Given the description of an element on the screen output the (x, y) to click on. 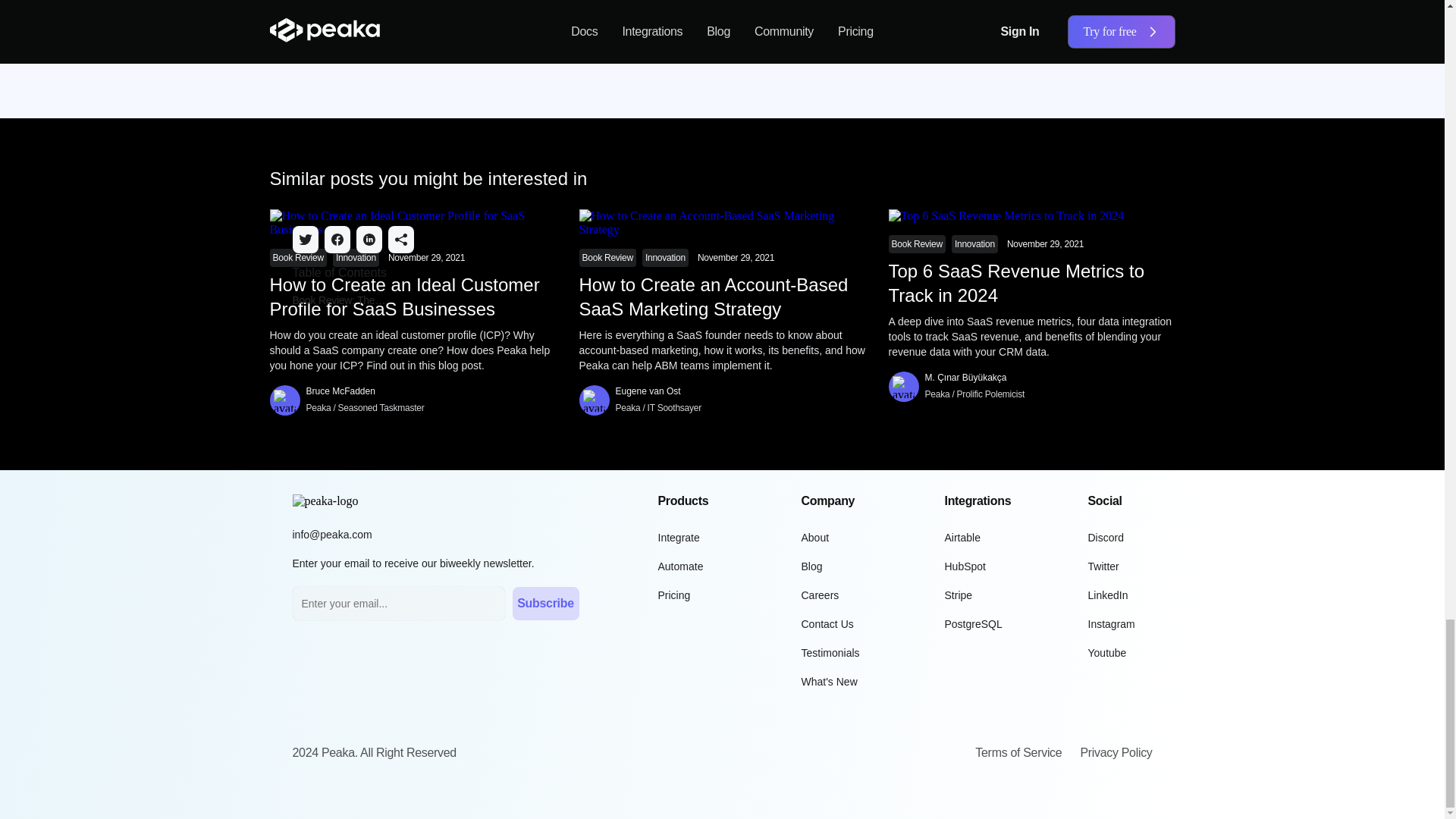
How to Create an Account-Based SaaS Marketing Strategy (722, 296)
Innovation (665, 257)
Book Review (607, 257)
Subscribe (821, 45)
Book Review (298, 257)
How to Create an Ideal Customer Profile for SaaS Businesses (412, 296)
Book Review (916, 244)
Innovation (355, 257)
